Given the description of an element on the screen output the (x, y) to click on. 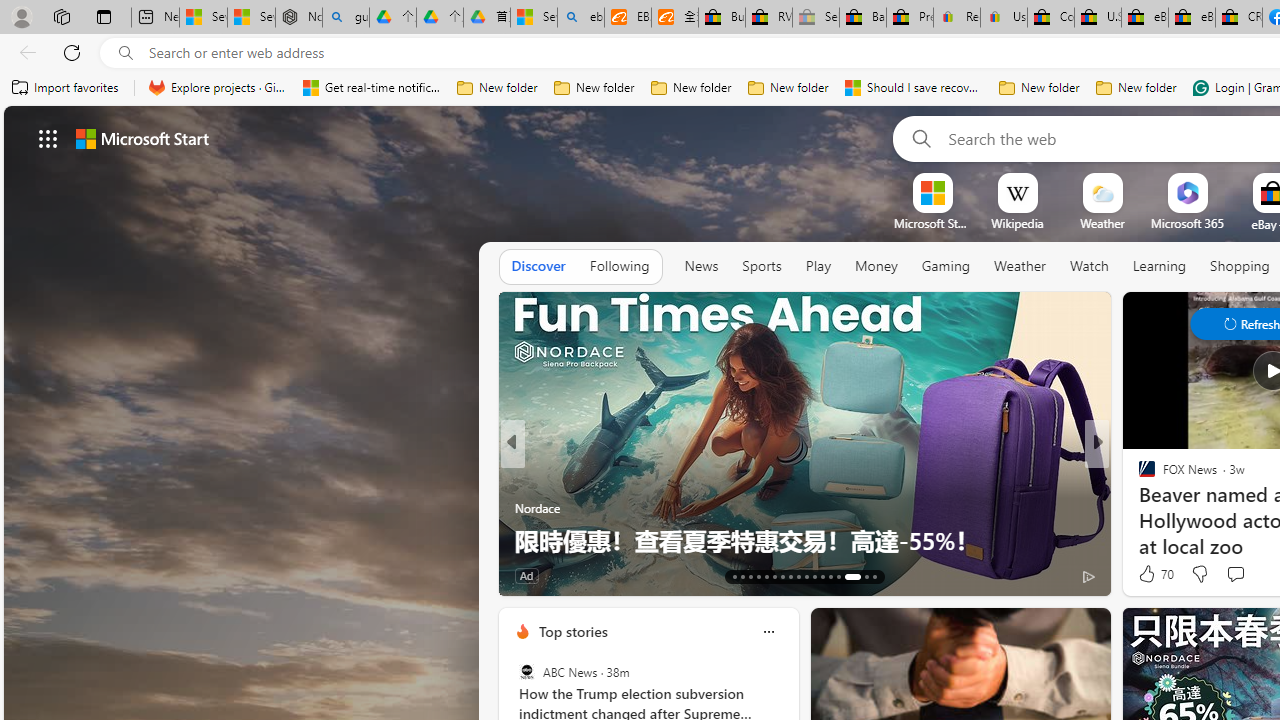
BRAINY DOSE (1138, 475)
Ad (525, 575)
Buy Auto Parts & Accessories | eBay (721, 17)
